Given the description of an element on the screen output the (x, y) to click on. 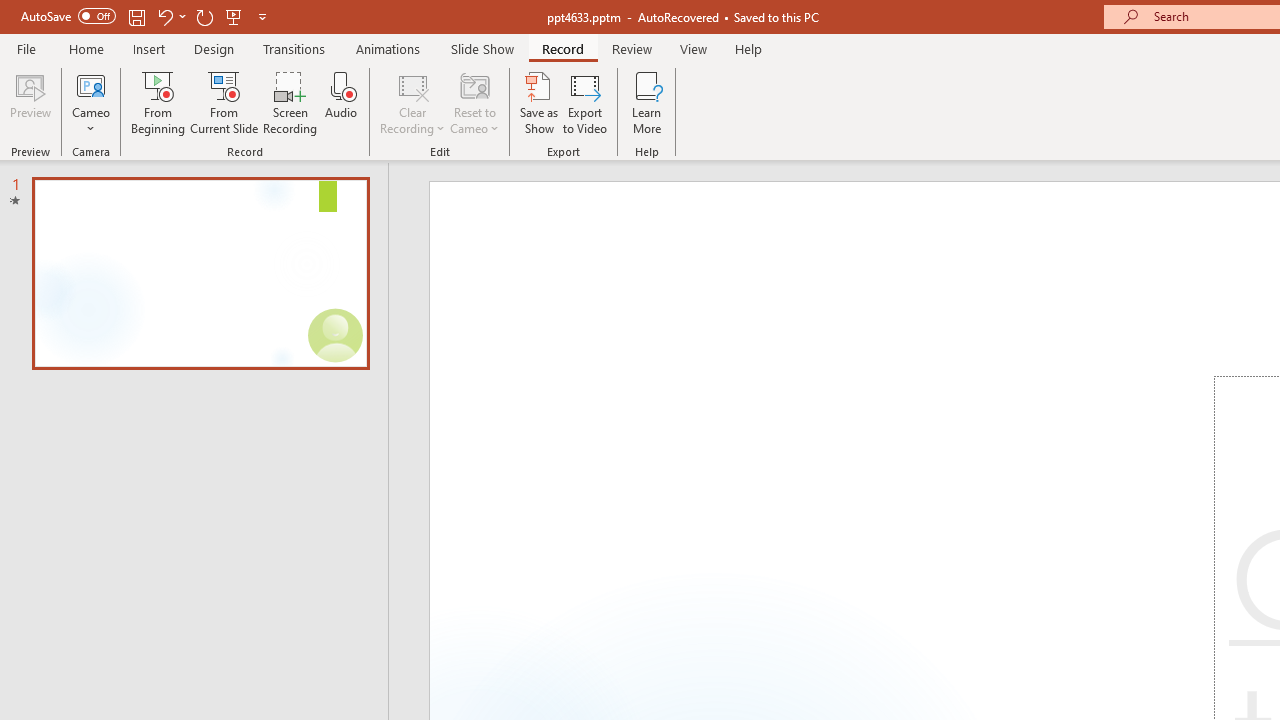
Screen Recording (290, 102)
